Given the description of an element on the screen output the (x, y) to click on. 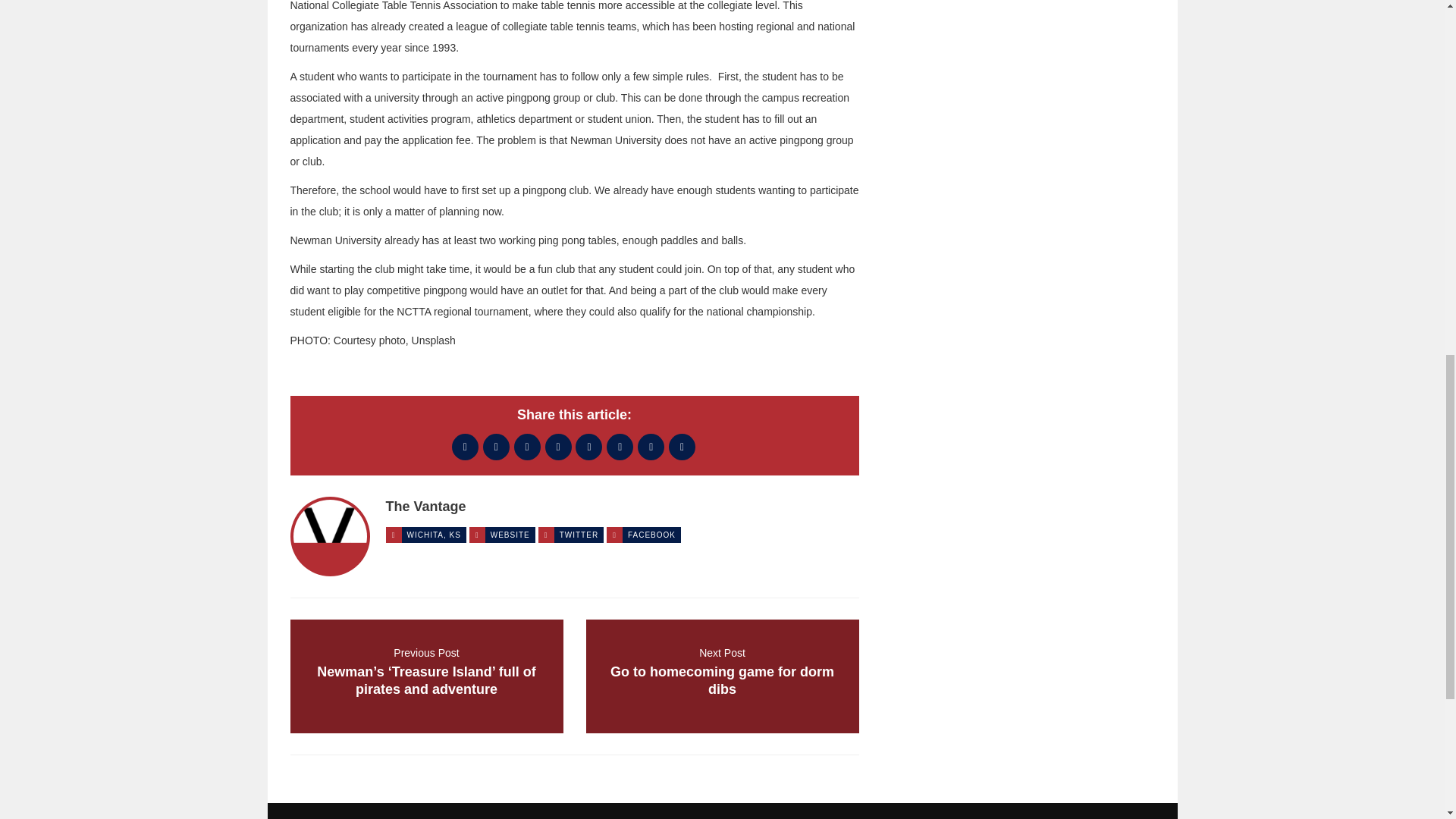
StumbleUpon (722, 676)
TWITTER (681, 446)
Facebook (578, 534)
WEBSITE (465, 446)
FACEBOOK (509, 534)
Digg (651, 534)
The Vantage (558, 446)
Pinterest (425, 506)
Google Plus (650, 446)
